Given the description of an element on the screen output the (x, y) to click on. 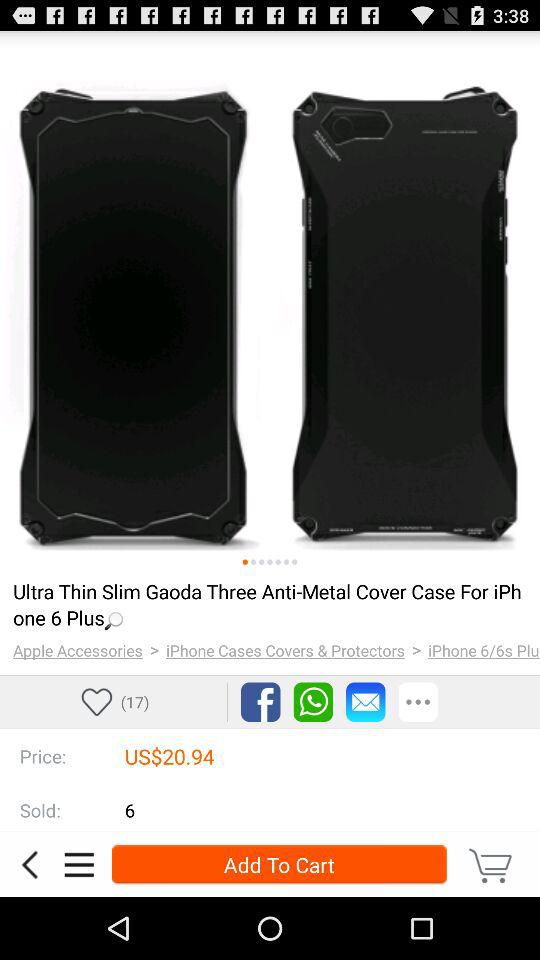
go to additional options (418, 701)
